Given the description of an element on the screen output the (x, y) to click on. 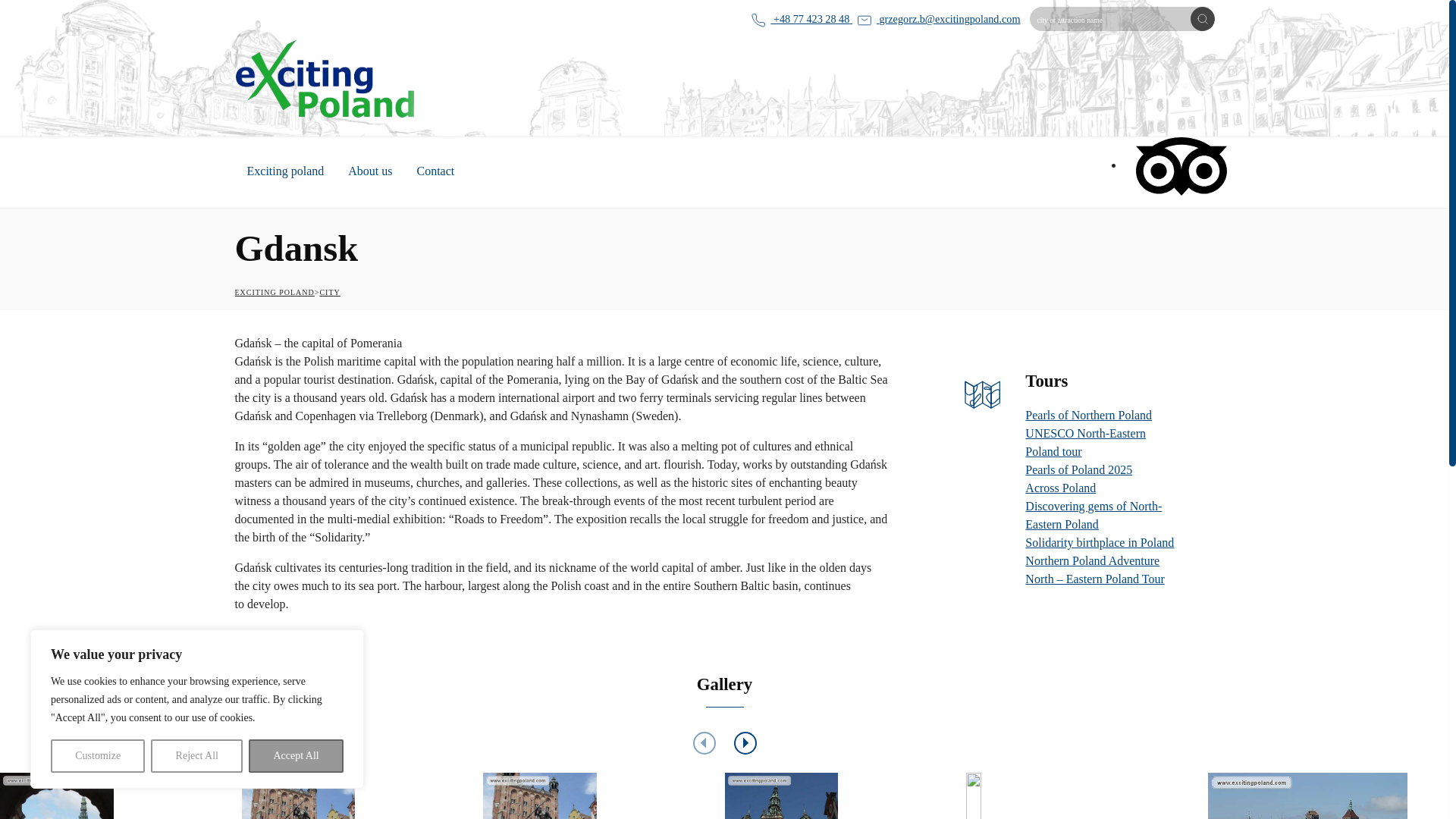
UNESCO North-Eastern Poland tour (1085, 441)
Exciting poland (285, 172)
Contact (435, 172)
Customize (97, 756)
Pearls of Northern Poland (1088, 414)
CITY (328, 292)
Accept All (295, 756)
EXCITING POLAND (274, 292)
Go to exciting poland. (274, 292)
Reject All (197, 756)
Across Poland (1060, 487)
Pearls of Poland 2025 (1078, 469)
Search (1202, 18)
Go to City. (328, 292)
About us (370, 172)
